Given the description of an element on the screen output the (x, y) to click on. 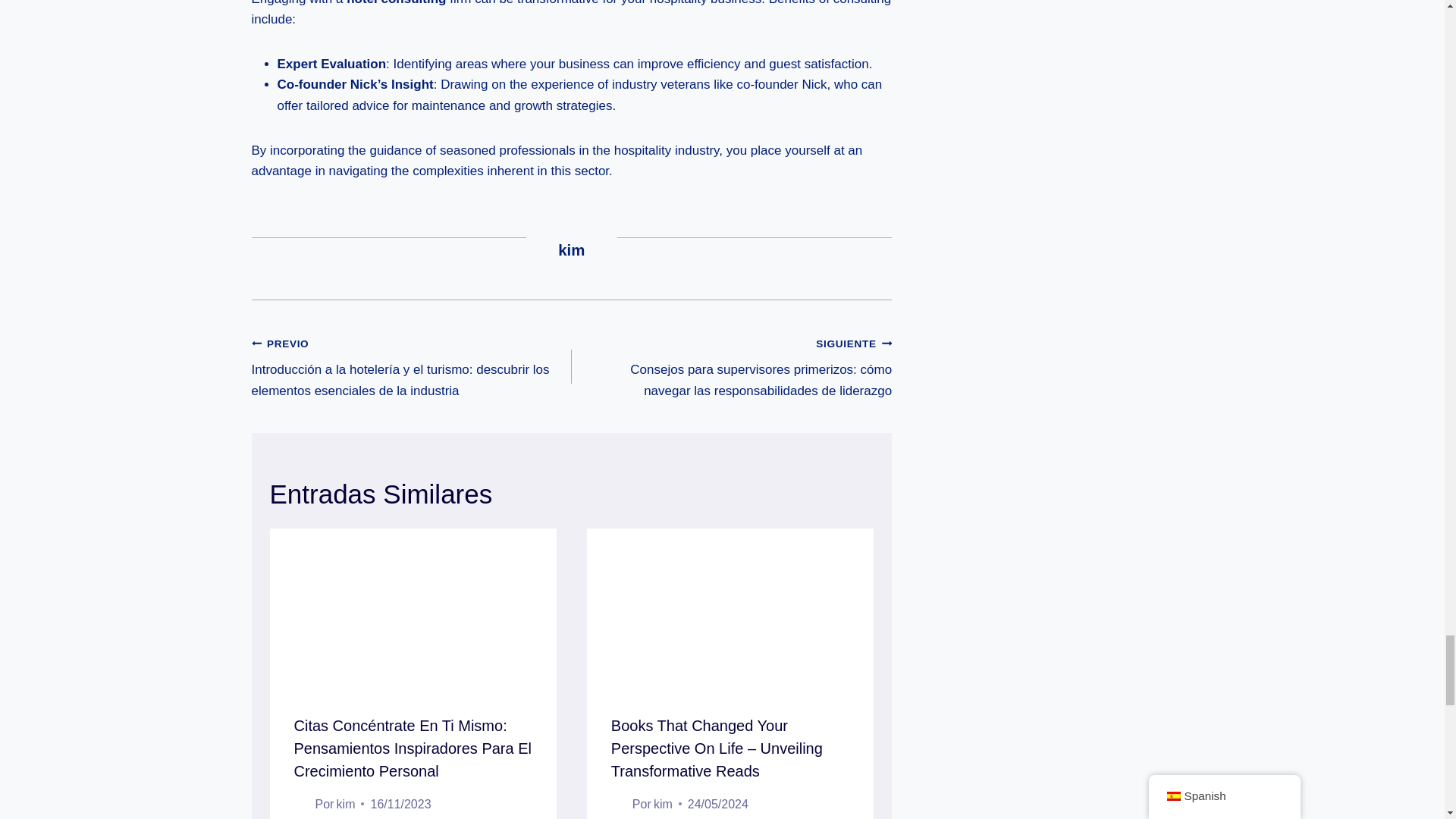
Entradas de Kim (571, 249)
